Given the description of an element on the screen output the (x, y) to click on. 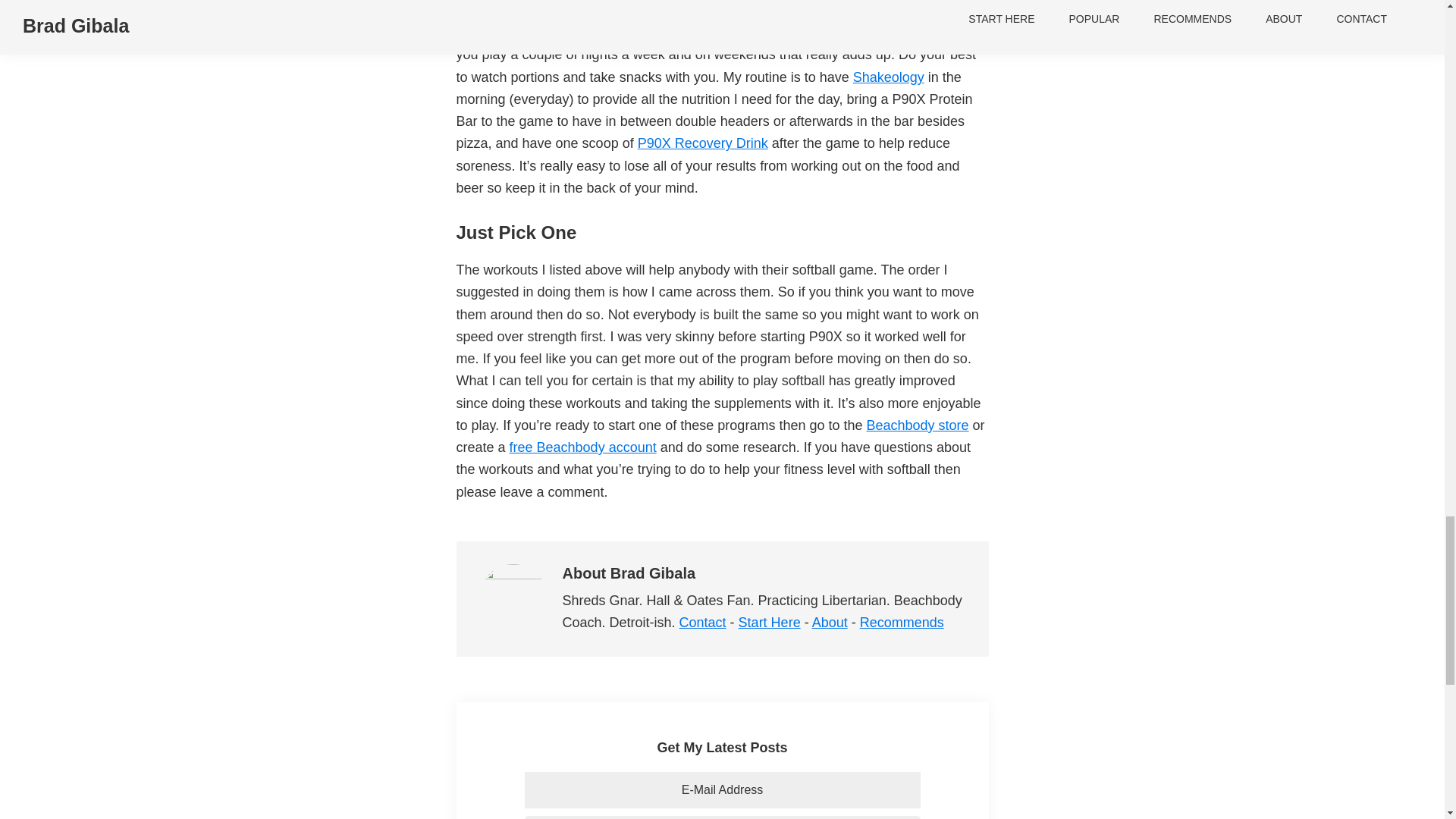
About (829, 622)
Beachbody store (917, 425)
Shakeology (888, 77)
free Beachbody account (582, 447)
P90X Recovery Drink (702, 142)
Recommends (901, 622)
Contact (702, 622)
Shakeology (888, 77)
P90X Recovery Drink (702, 142)
Start Here (769, 622)
